Given the description of an element on the screen output the (x, y) to click on. 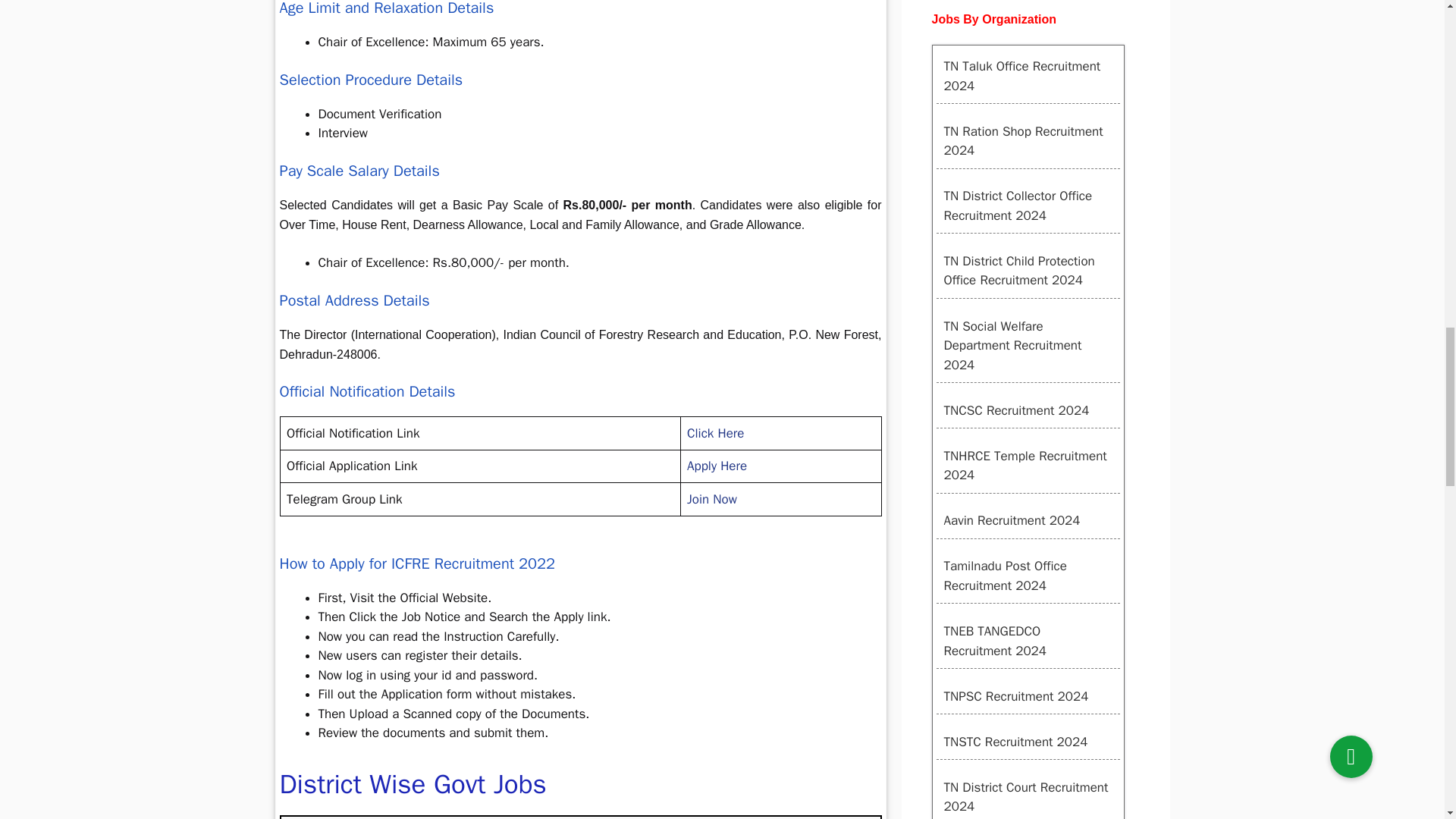
Apply Here (716, 465)
Click Here (715, 433)
Join Now (711, 498)
